Given the description of an element on the screen output the (x, y) to click on. 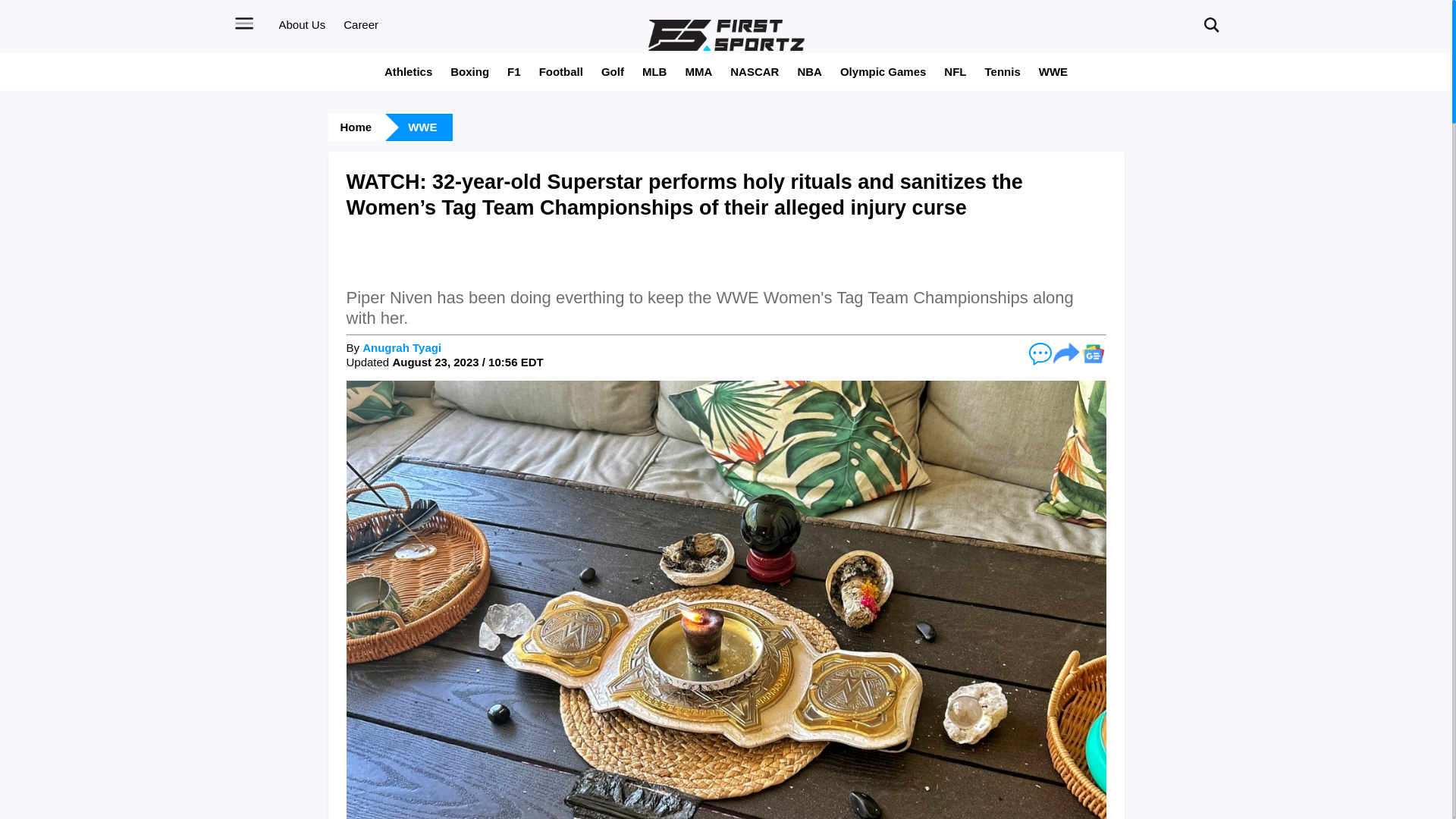
FirstSportz (726, 35)
Golf (612, 71)
NFL (954, 71)
F1 (513, 71)
MMA (697, 71)
WWE (1053, 71)
MLB (654, 71)
NASCAR (754, 71)
Athletics (408, 71)
Tennis (1002, 71)
